Given the description of an element on the screen output the (x, y) to click on. 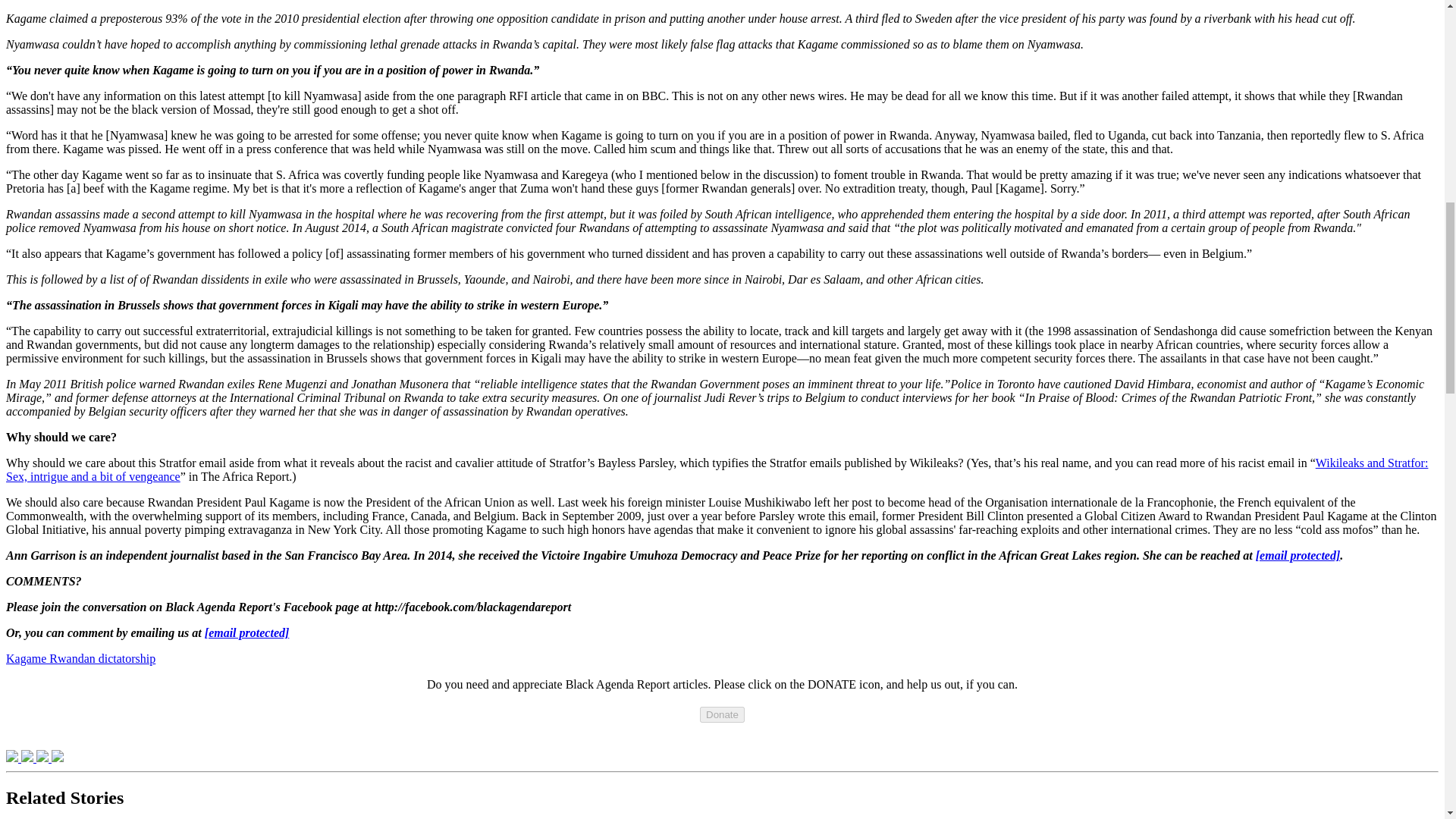
Kagame Rwandan dictatorship (80, 658)
Donate (722, 714)
Donate (722, 713)
Wikileaks and Stratfor: Sex, intrigue and a bit of vengeance (716, 469)
